Given the description of an element on the screen output the (x, y) to click on. 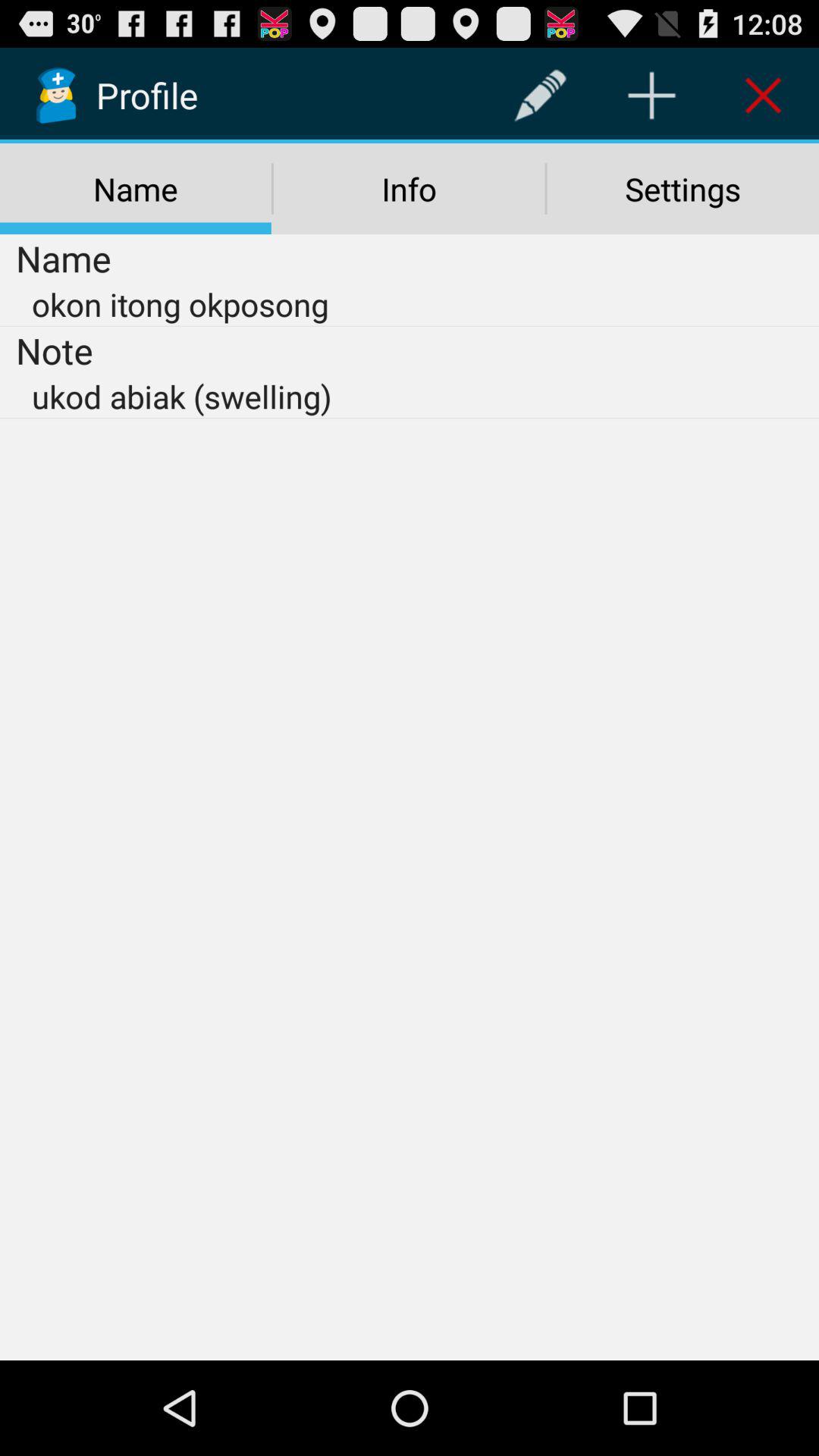
choose the item above settings item (763, 95)
